Given the description of an element on the screen output the (x, y) to click on. 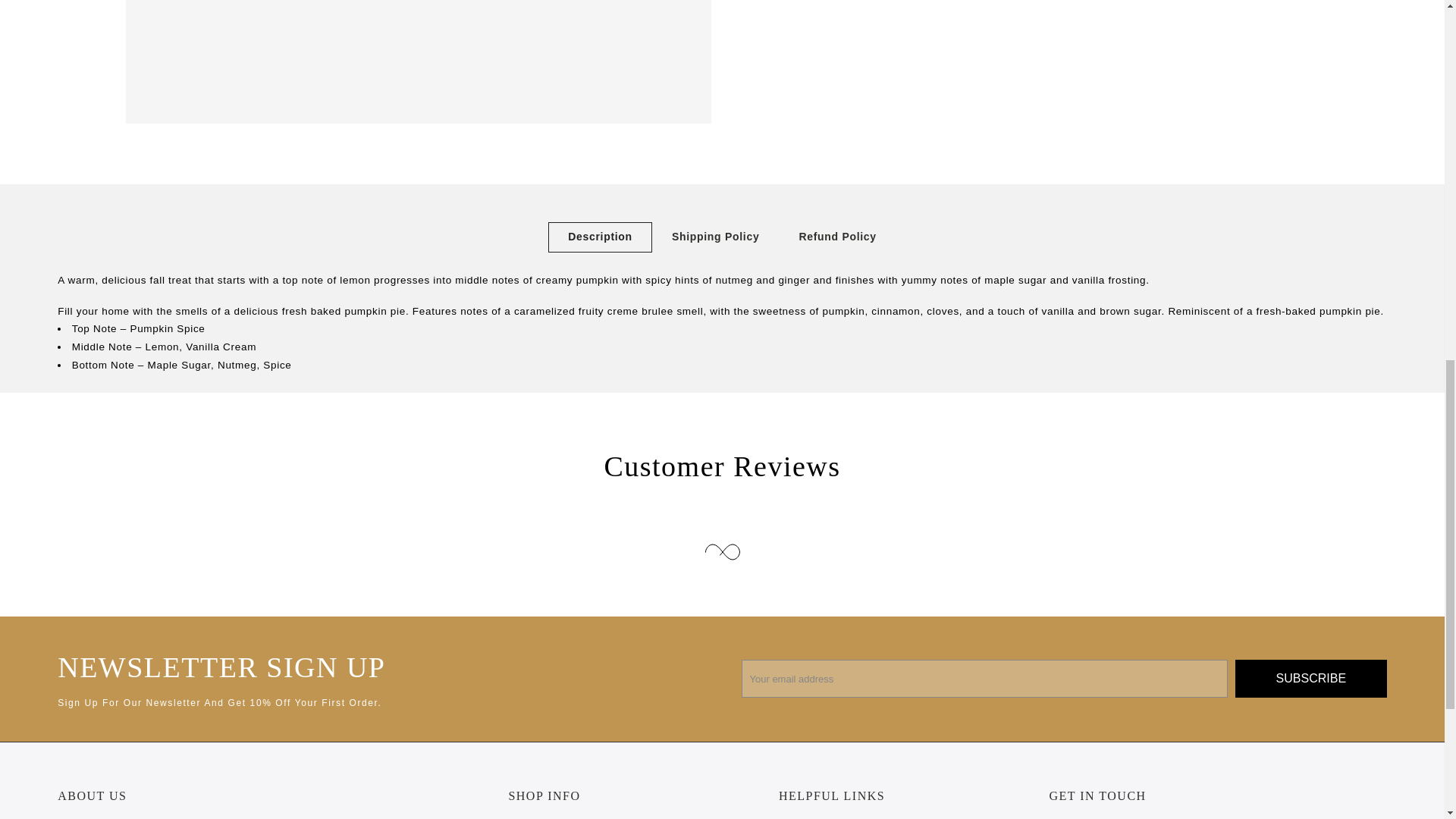
Refund Policy (836, 236)
Shipping Policy (715, 236)
Description (600, 236)
